Given the description of an element on the screen output the (x, y) to click on. 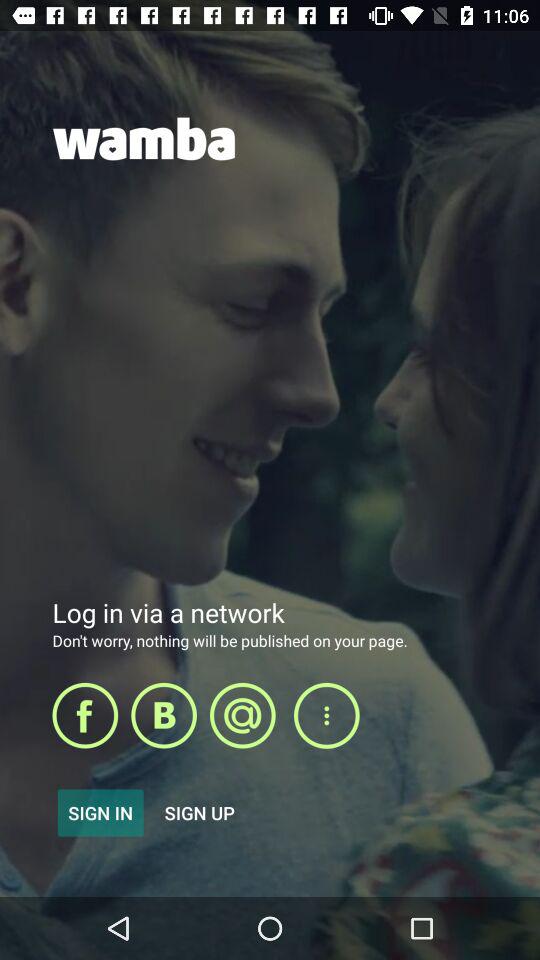
view more options (326, 716)
